Given the description of an element on the screen output the (x, y) to click on. 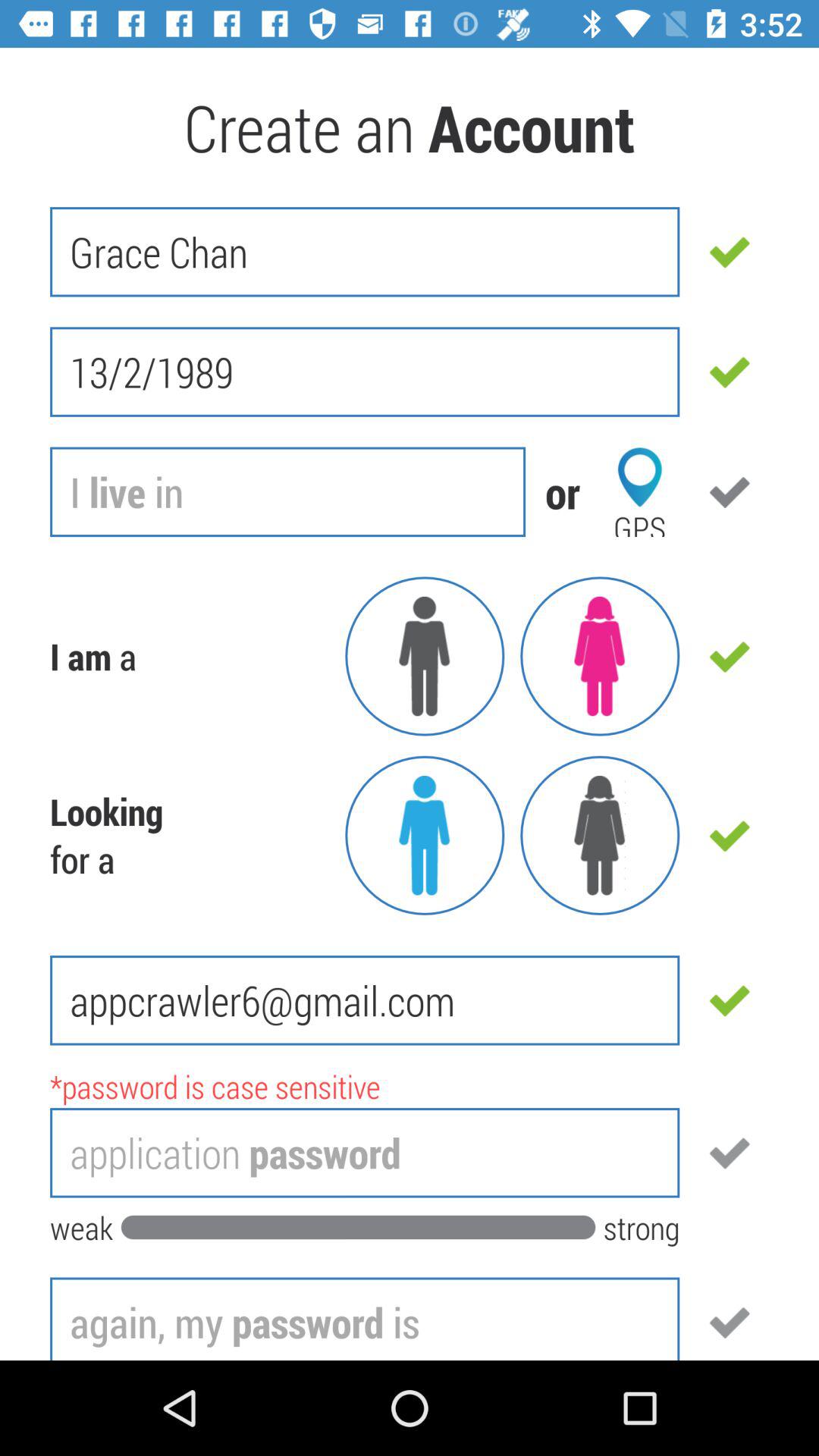
turn on appcrawler6@gmail.com icon (364, 1000)
